Given the description of an element on the screen output the (x, y) to click on. 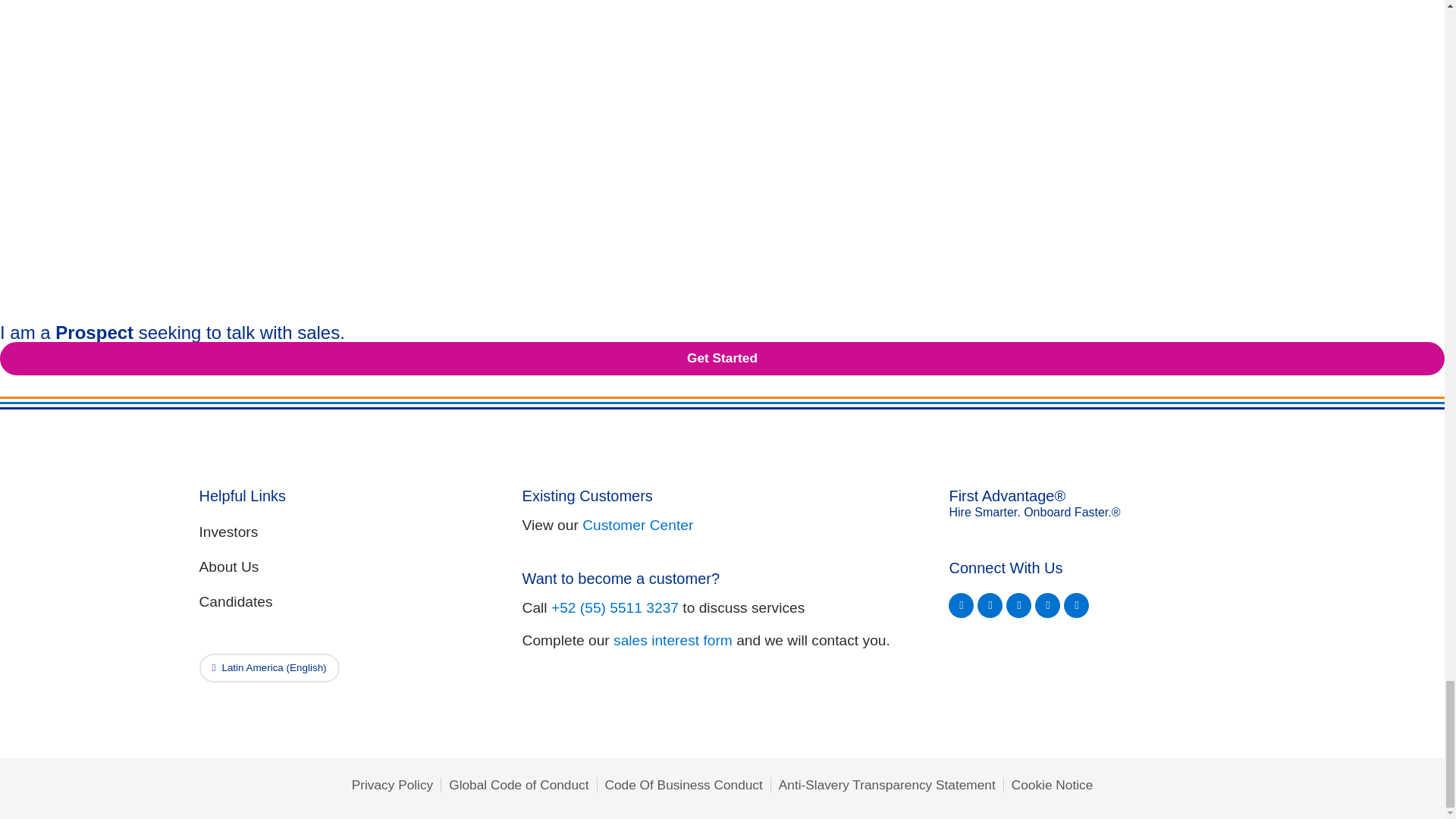
Investors (346, 532)
Customer Center (637, 524)
Candidates (346, 601)
About Us (346, 566)
sales interest form (672, 640)
